Given the description of an element on the screen output the (x, y) to click on. 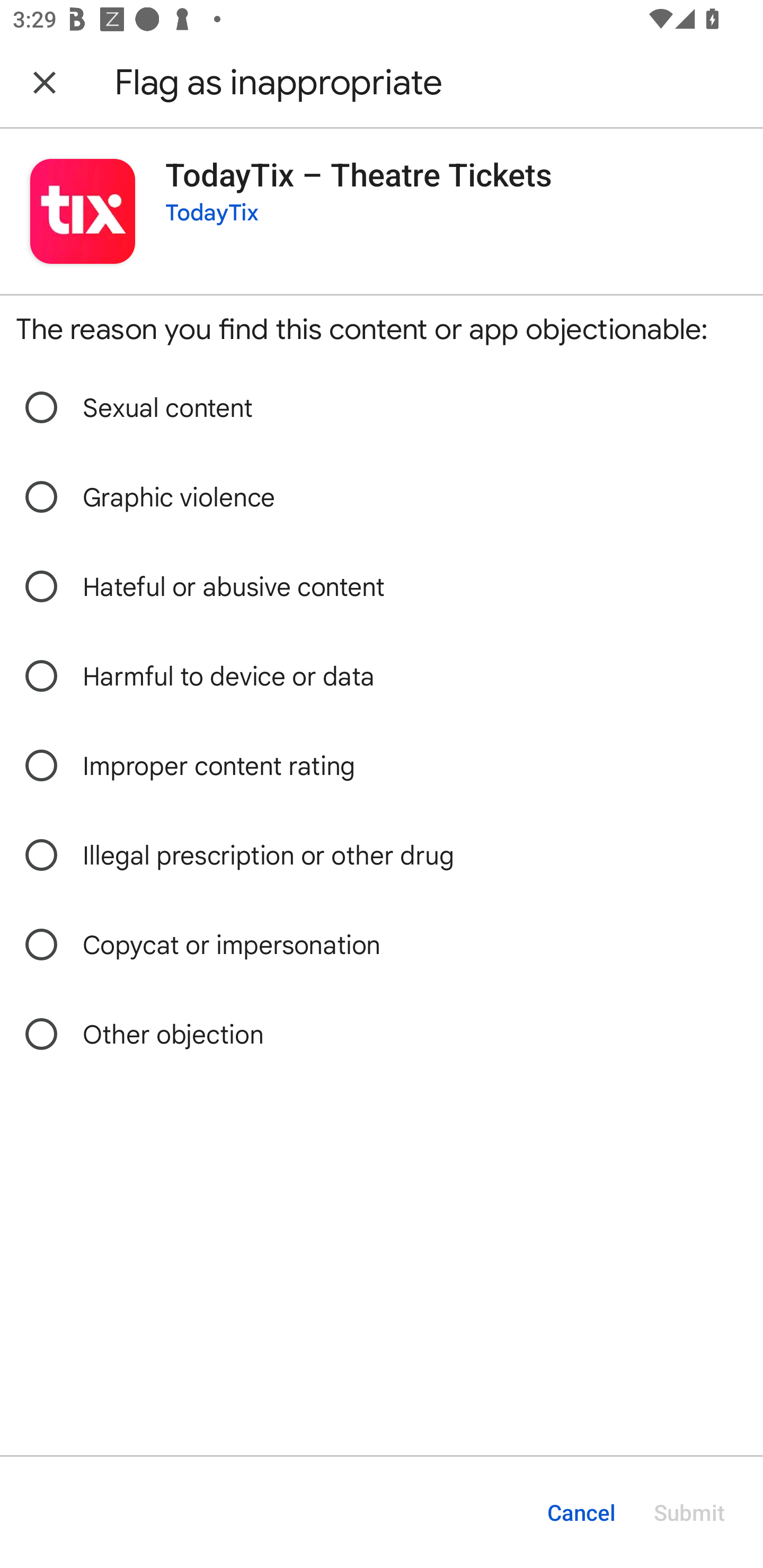
Close (44, 82)
TodayTix (212, 213)
Sexual content (381, 407)
Graphic violence (381, 497)
Hateful or abusive content (381, 586)
Harmful to device or data (381, 676)
Improper content rating (381, 765)
Illegal prescription or other drug (381, 855)
Copycat or impersonation (381, 944)
Other objection (381, 1033)
Cancel (580, 1512)
Submit (688, 1512)
